Given the description of an element on the screen output the (x, y) to click on. 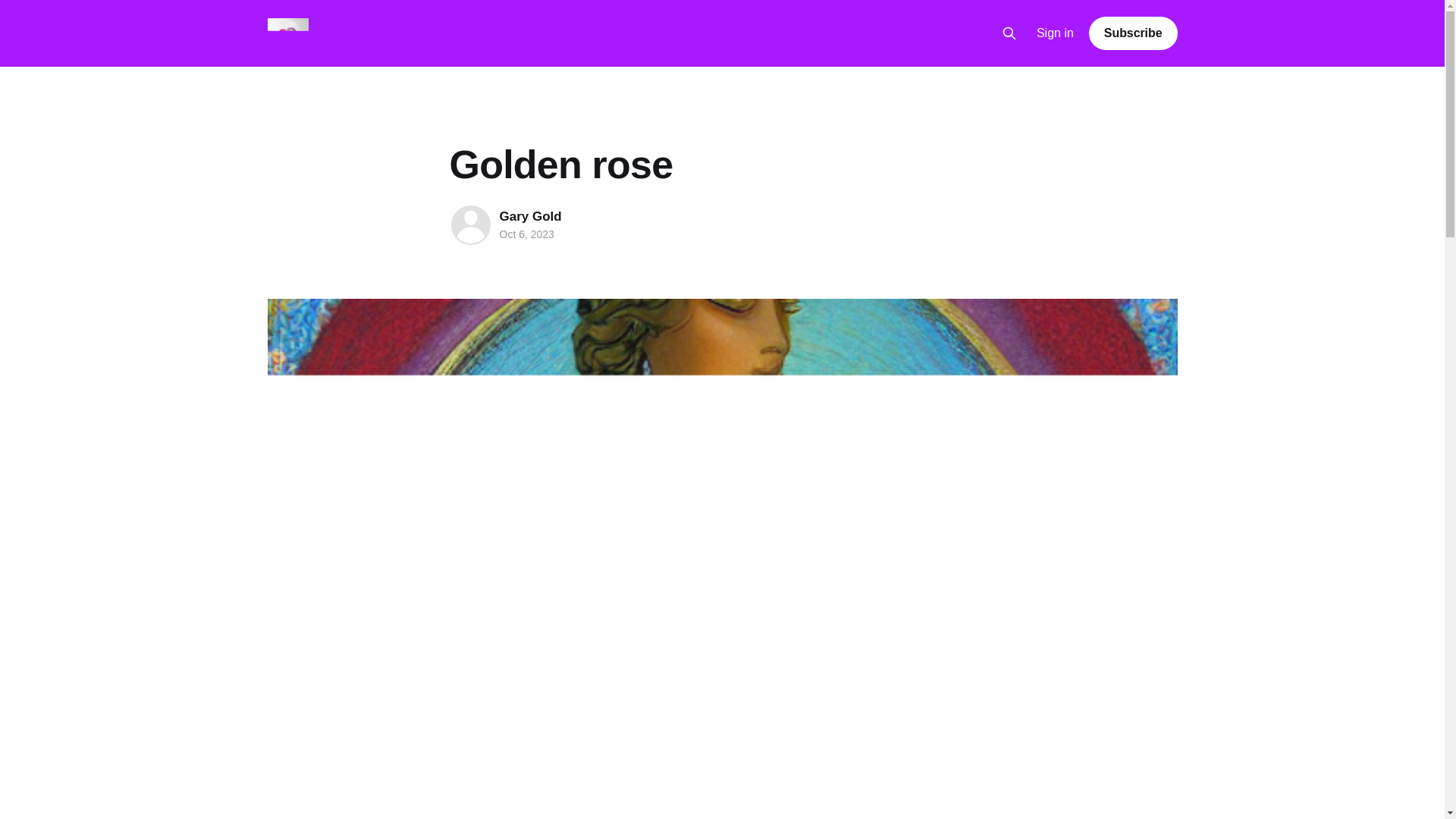
Subscribe (1133, 32)
Gary Gold (529, 216)
Sign in (1055, 33)
